Given the description of an element on the screen output the (x, y) to click on. 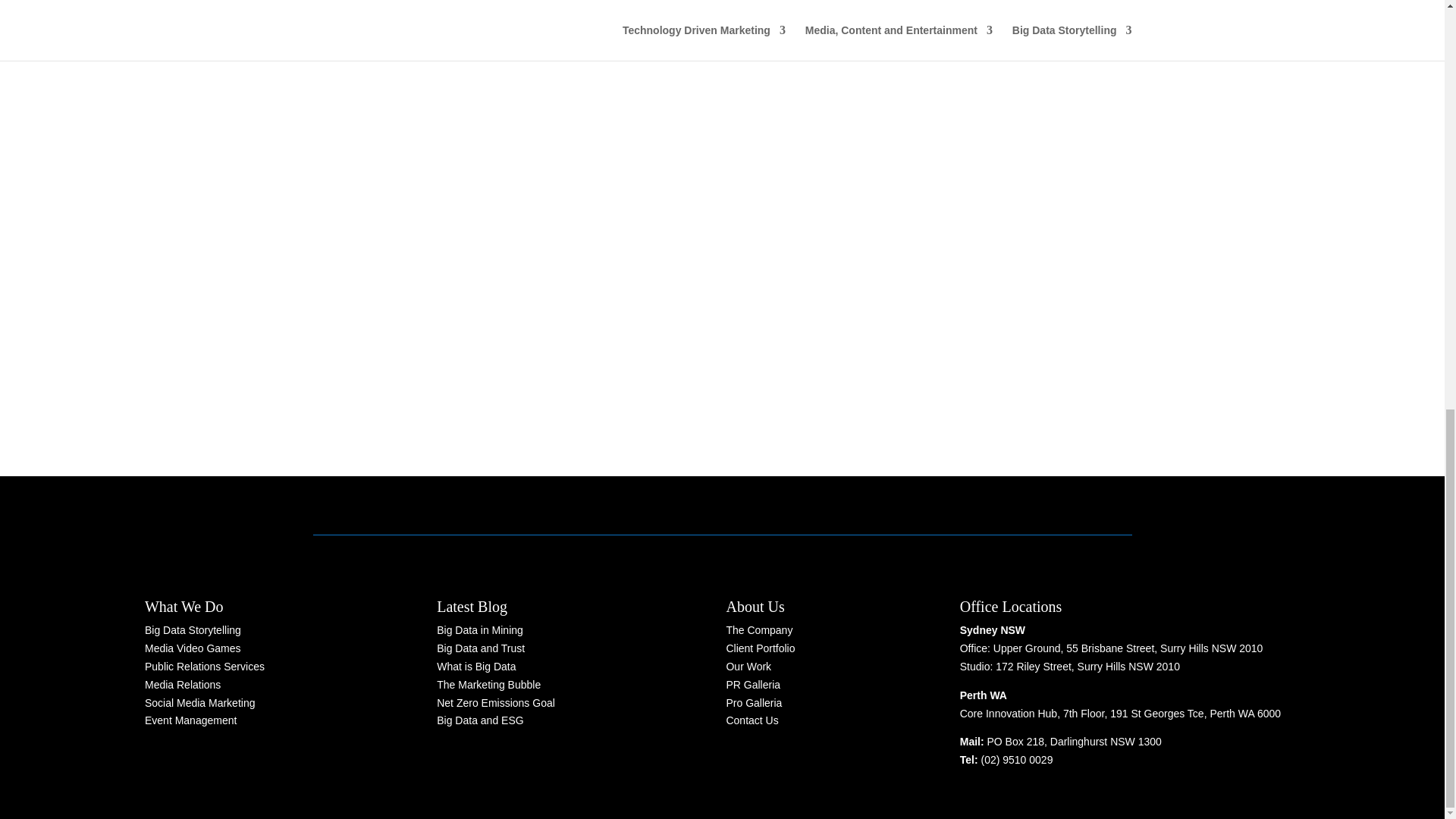
Contact Us (751, 720)
What is Big Data (475, 666)
Big Data and ESG (479, 720)
Social Media Marketing (200, 702)
Big Data in Mining (479, 630)
Pro Galleria (753, 702)
PR Galleria (752, 684)
Event Management (189, 720)
Media Video Games (192, 648)
The Company (758, 630)
